Given the description of an element on the screen output the (x, y) to click on. 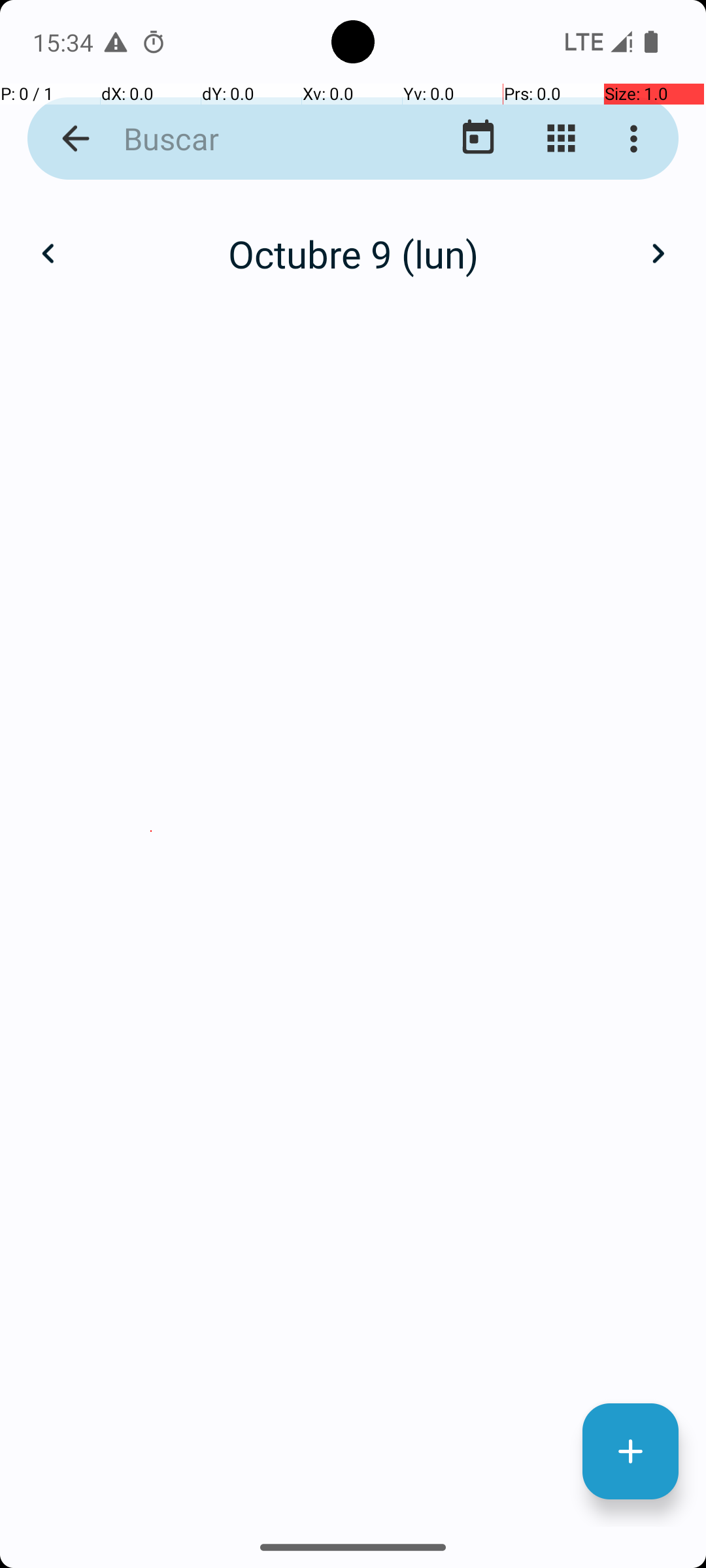
Ir al día de hoy Element type: android.widget.Button (477, 138)
Octubre 9 (lun) Element type: android.widget.TextView (352, 253)
